Given the description of an element on the screen output the (x, y) to click on. 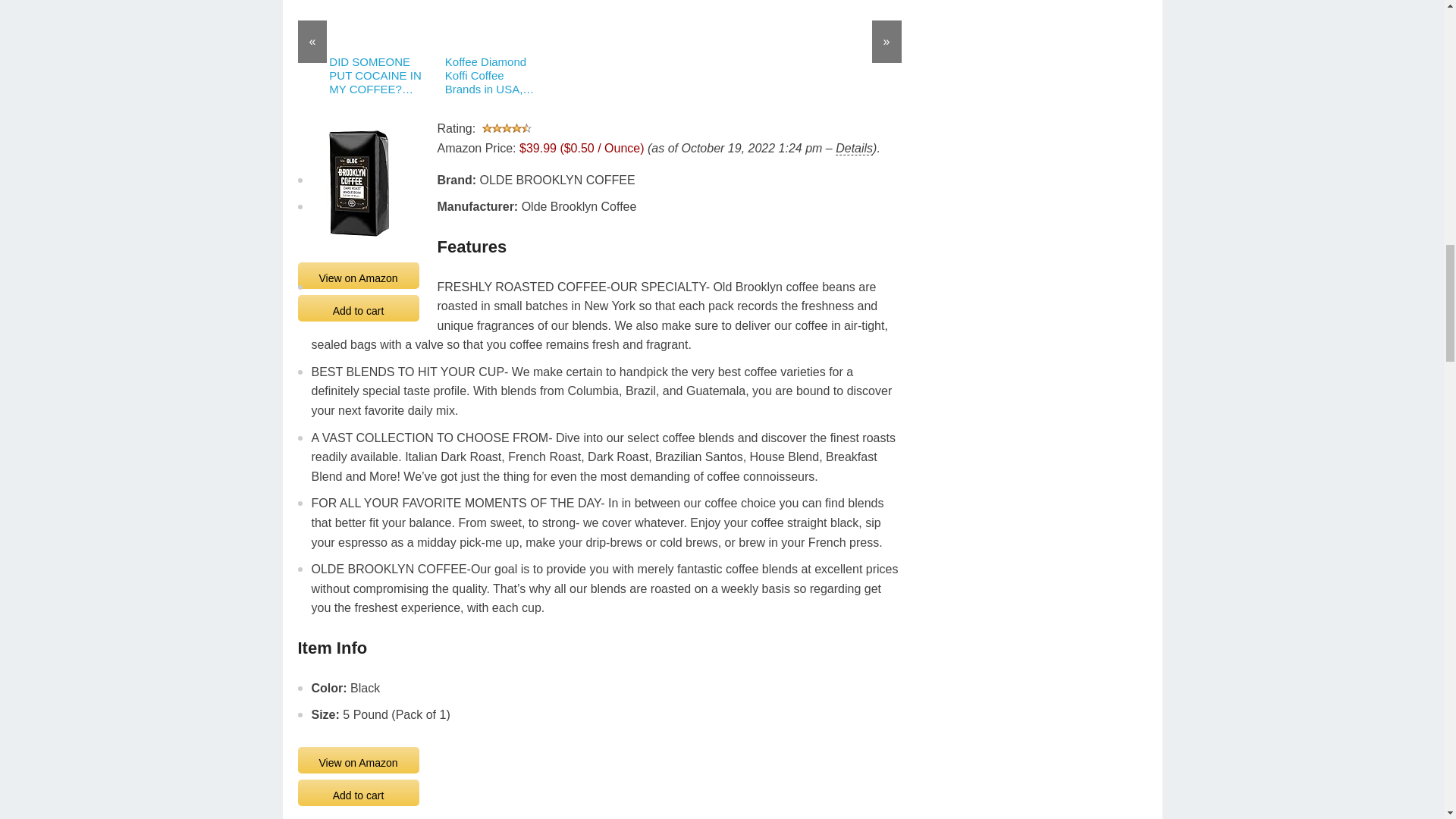
Add to cart (358, 789)
View on Amazon (358, 756)
Add to cart (358, 304)
View on Amazon (358, 272)
